Given the description of an element on the screen output the (x, y) to click on. 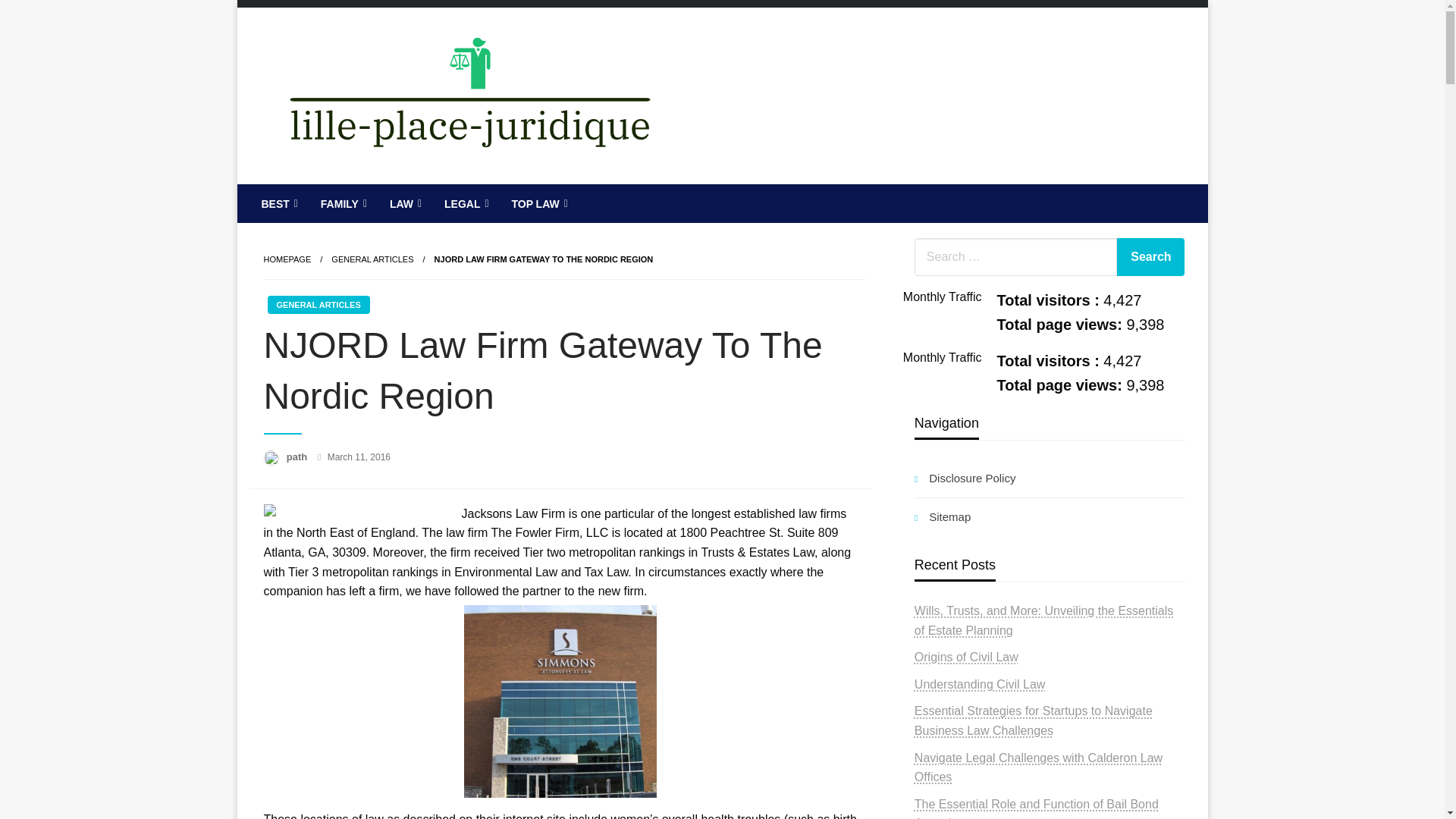
General Articles (372, 258)
TOP LAW (536, 203)
Search (1150, 257)
lille place juridique (387, 195)
BEST (277, 203)
path (298, 456)
LAW (403, 203)
FAMILY (342, 203)
Homepage (287, 258)
